Given the description of an element on the screen output the (x, y) to click on. 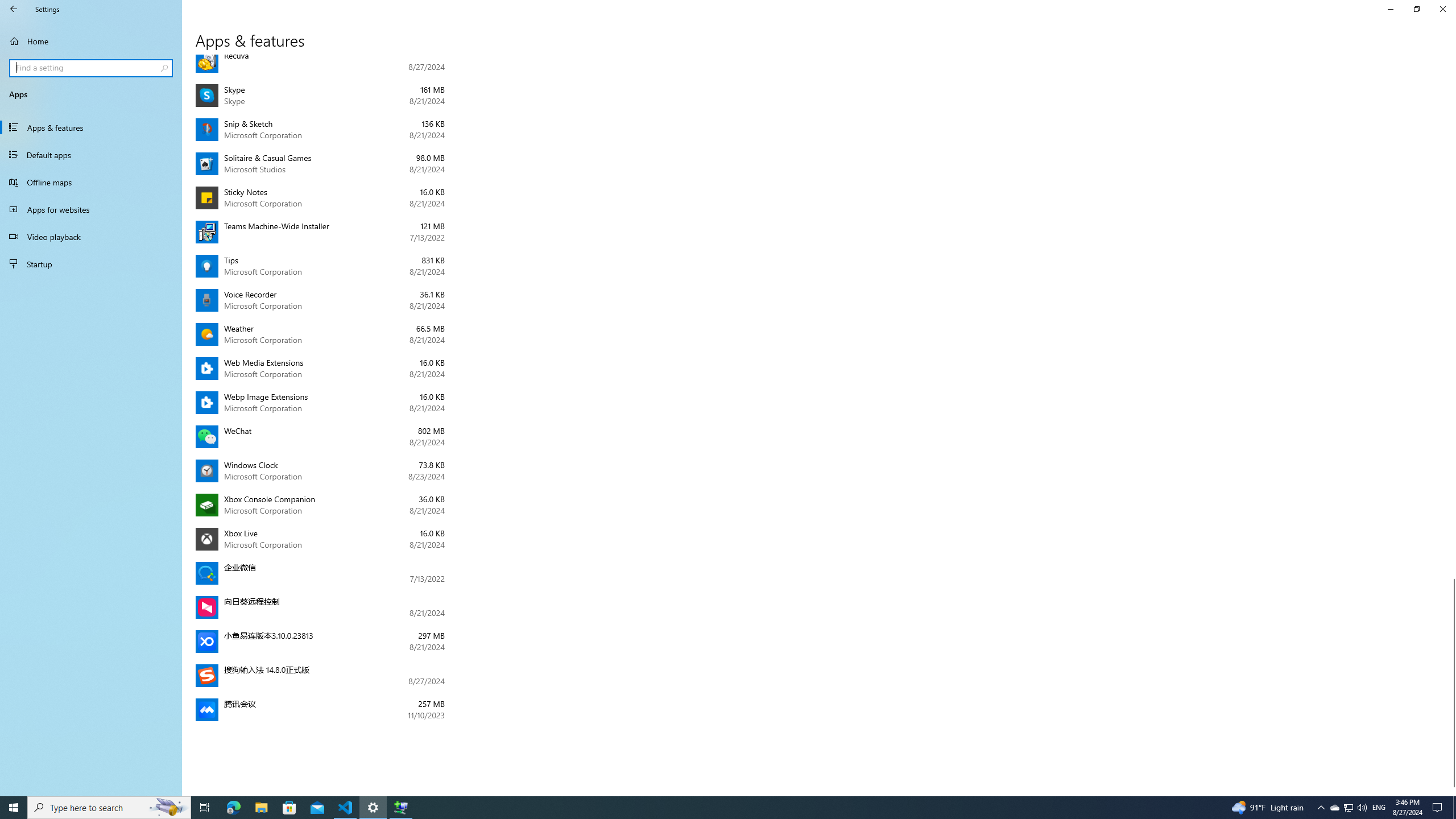
Home (91, 40)
Vertical (1451, 425)
Restore Settings (1416, 9)
Type here to search (108, 807)
Running applications (706, 807)
Show desktop (1454, 807)
